Given the description of an element on the screen output the (x, y) to click on. 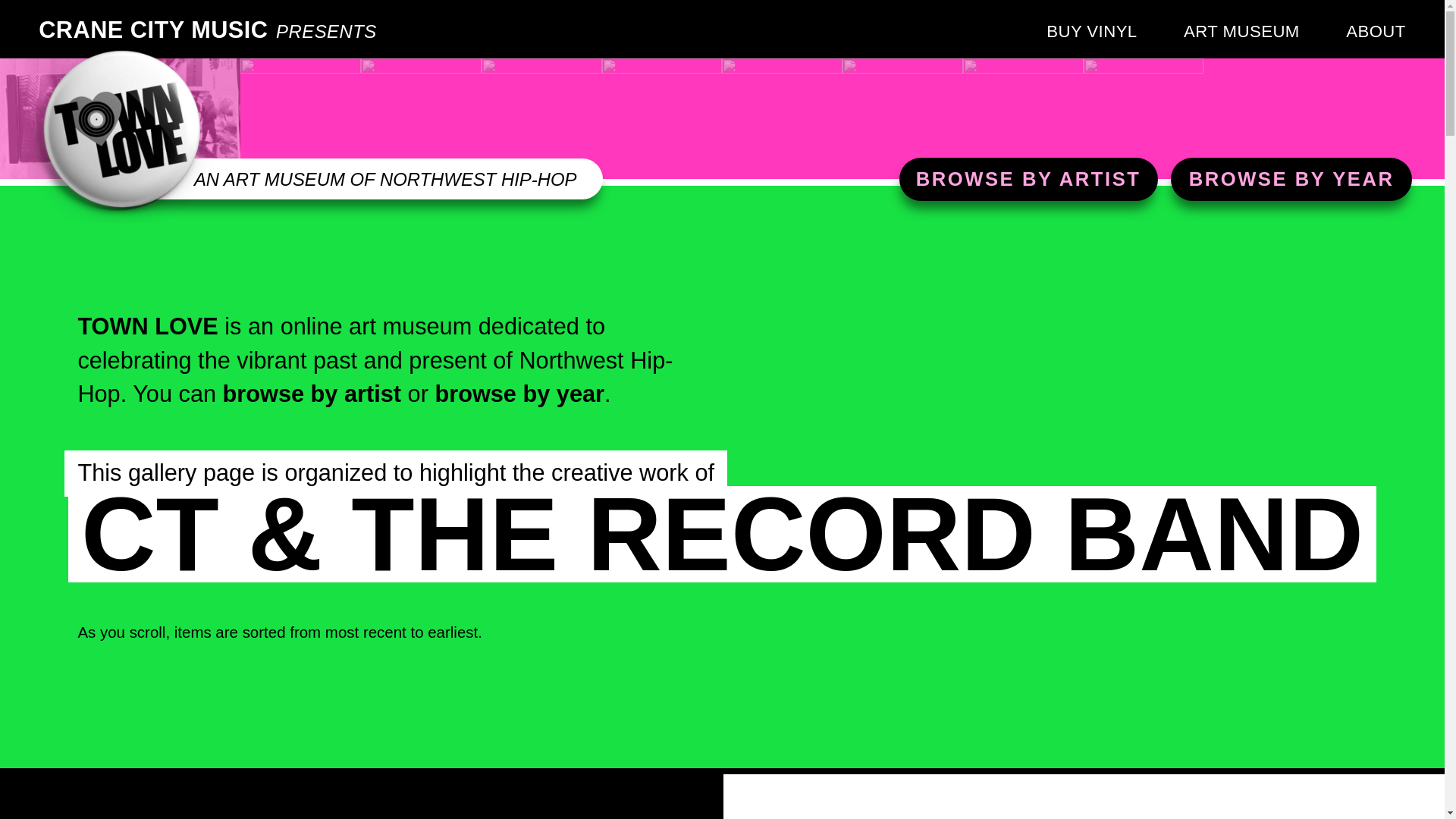
ART MUSEUM (1241, 31)
browse by year (518, 393)
BROWSE BY ARTIST (1028, 178)
browse by artist (311, 393)
AN ART MUSEUM OF NORTHWEST HIP-HOP (384, 178)
BUY VINYL (1091, 31)
ABOUT (1375, 31)
BROWSE BY YEAR (1291, 178)
CRANE CITY MUSIC (153, 29)
